Given the description of an element on the screen output the (x, y) to click on. 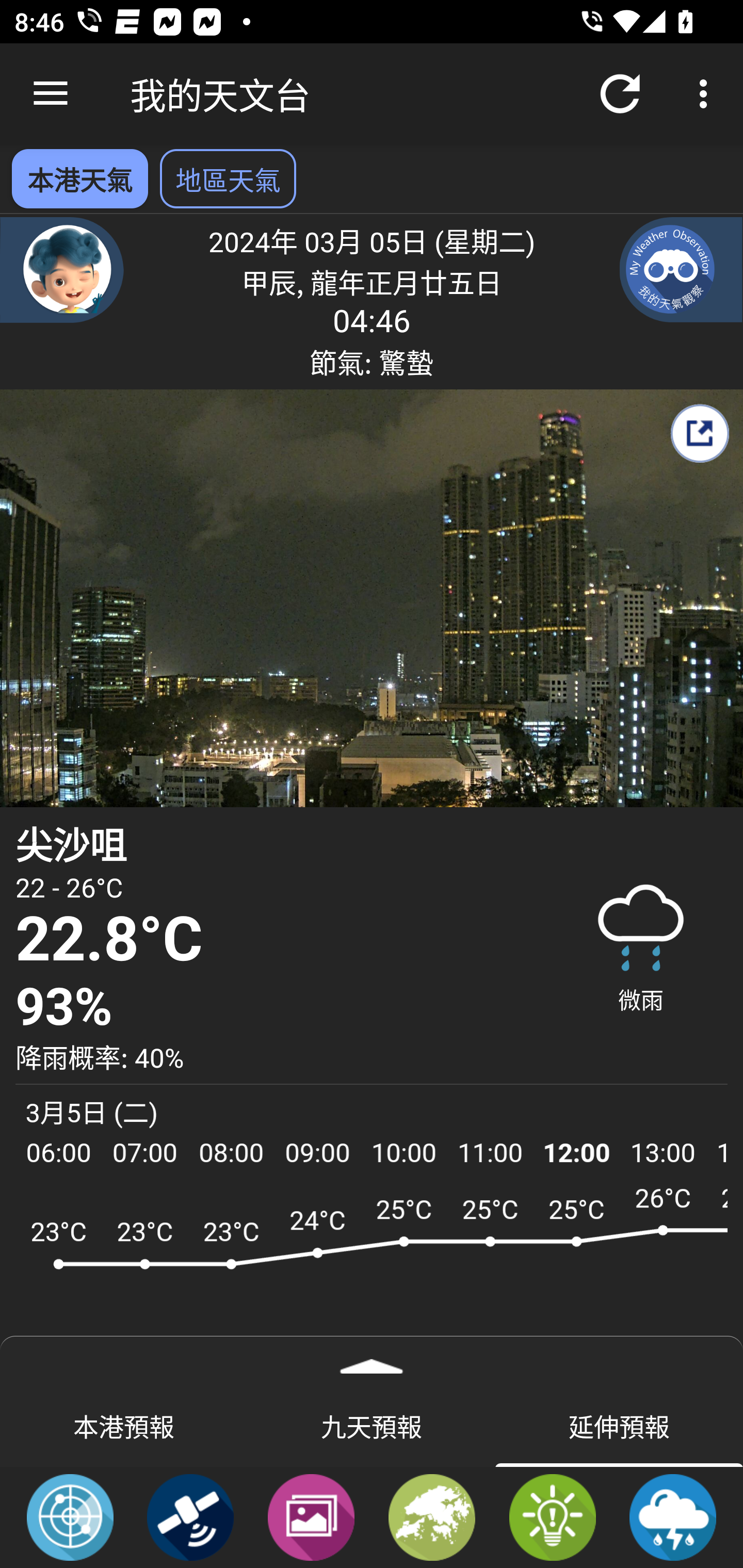
向上瀏覽 (50, 93)
重新整理 (619, 93)
更多選項 (706, 93)
本港天氣 已選擇 本港天氣 (79, 178)
地區天氣 選擇 地區天氣 (227, 178)
聊天機械人 (62, 269)
我的天氣觀察 (680, 269)
分享我的天氣報告 (699, 433)
22.8°C 氣溫22.8攝氏度 (276, 939)
93% 相對濕度百分之93 (276, 1007)
九天自動天氣預報 圖片
輕按進入內頁，即可了解詳細資料。 ARWF (371, 1275)
展開 (371, 1358)
本港預報 (123, 1424)
九天預報 (371, 1424)
雷達圖像 (69, 1516)
衛星圖像 (190, 1516)
天氣照片 (310, 1516)
分區天氣 (431, 1516)
天氣提示 (551, 1516)
定點降雨及閃電預報 (672, 1516)
